Given the description of an element on the screen output the (x, y) to click on. 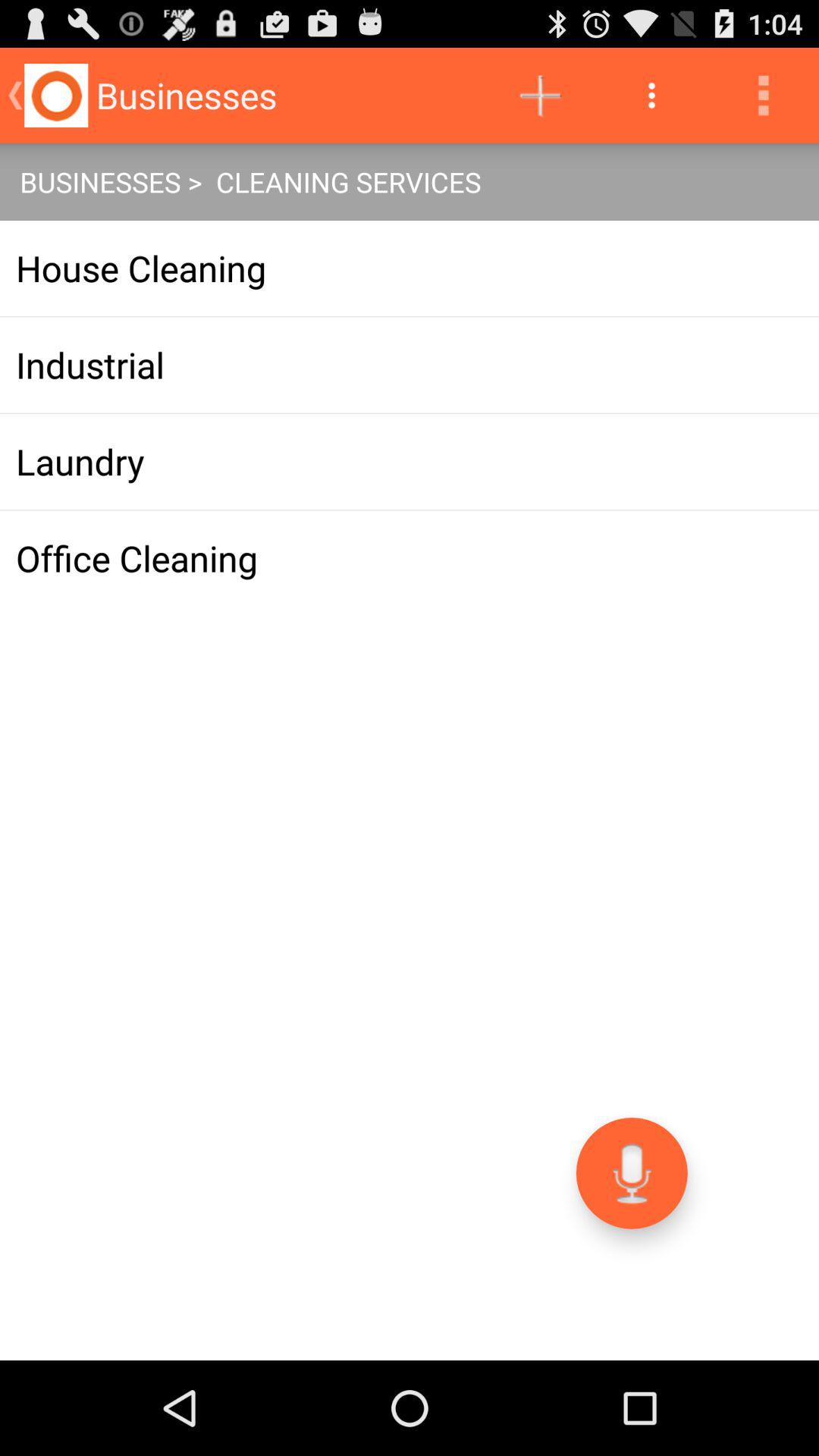
turn off icon below the laundry (409, 558)
